Given the description of an element on the screen output the (x, y) to click on. 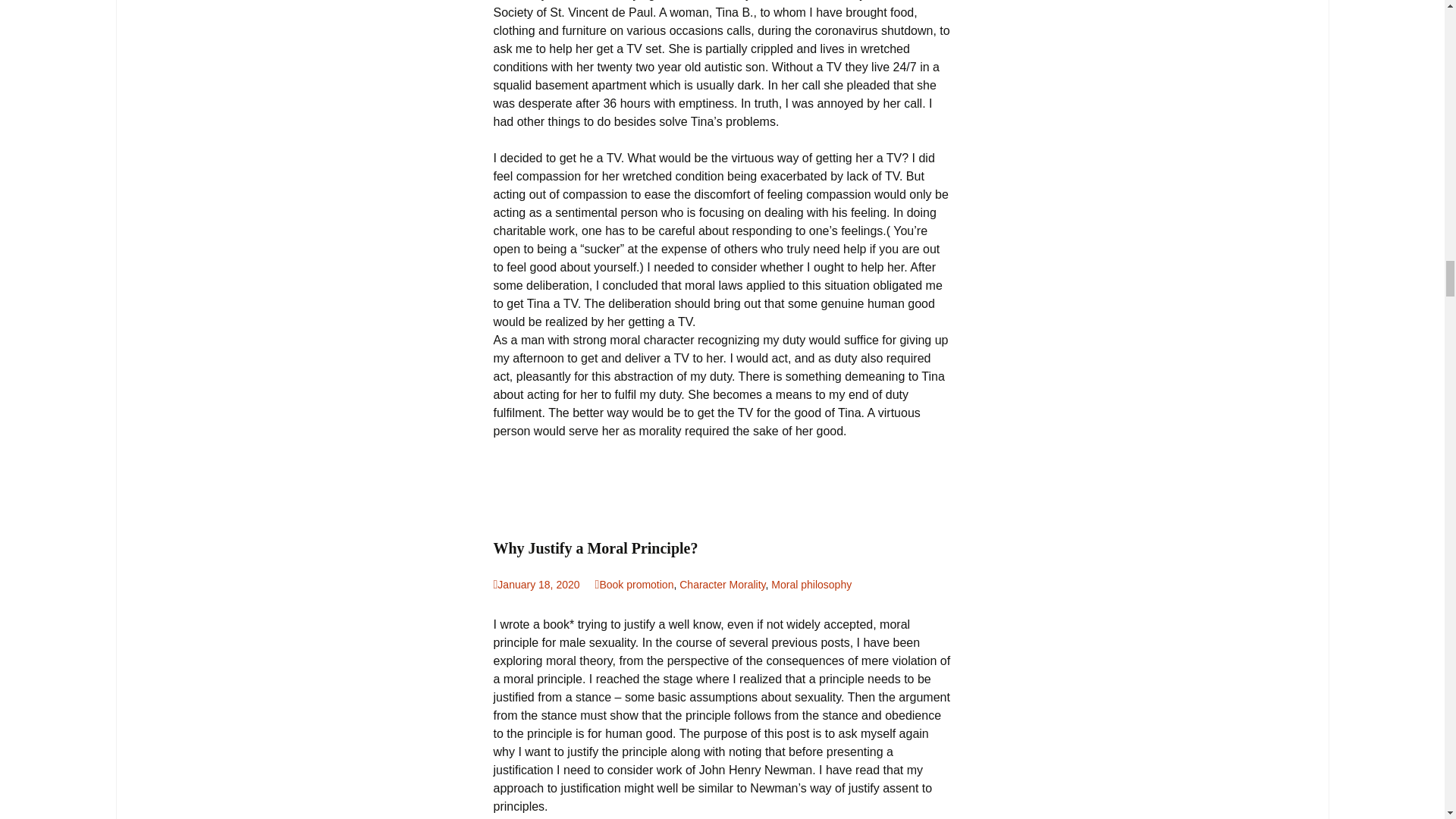
January 18, 2020 (536, 584)
Moral philosophy (811, 584)
Character Morality (722, 584)
Permalink to Why Justify a Moral Principle? (536, 584)
Why Justify a Moral Principle? (721, 547)
Book promotion (634, 584)
